Given the description of an element on the screen output the (x, y) to click on. 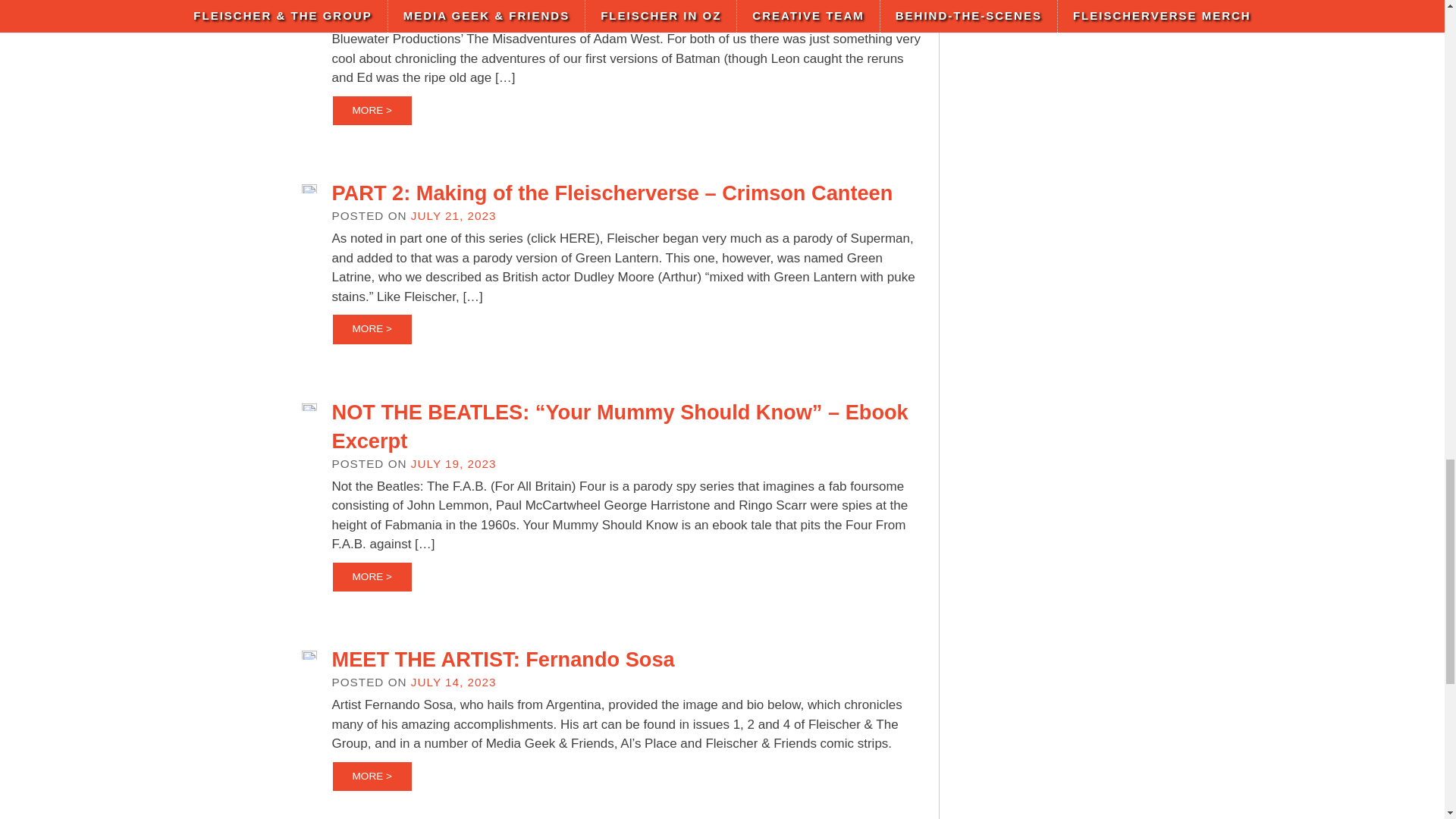
JULY 14, 2023 (453, 681)
MEET THE ARTIST: Fernando Sosa (503, 658)
JULY 21, 2023 (453, 215)
JULY 19, 2023 (453, 463)
JULY 24, 2023 (453, 2)
